Given the description of an element on the screen output the (x, y) to click on. 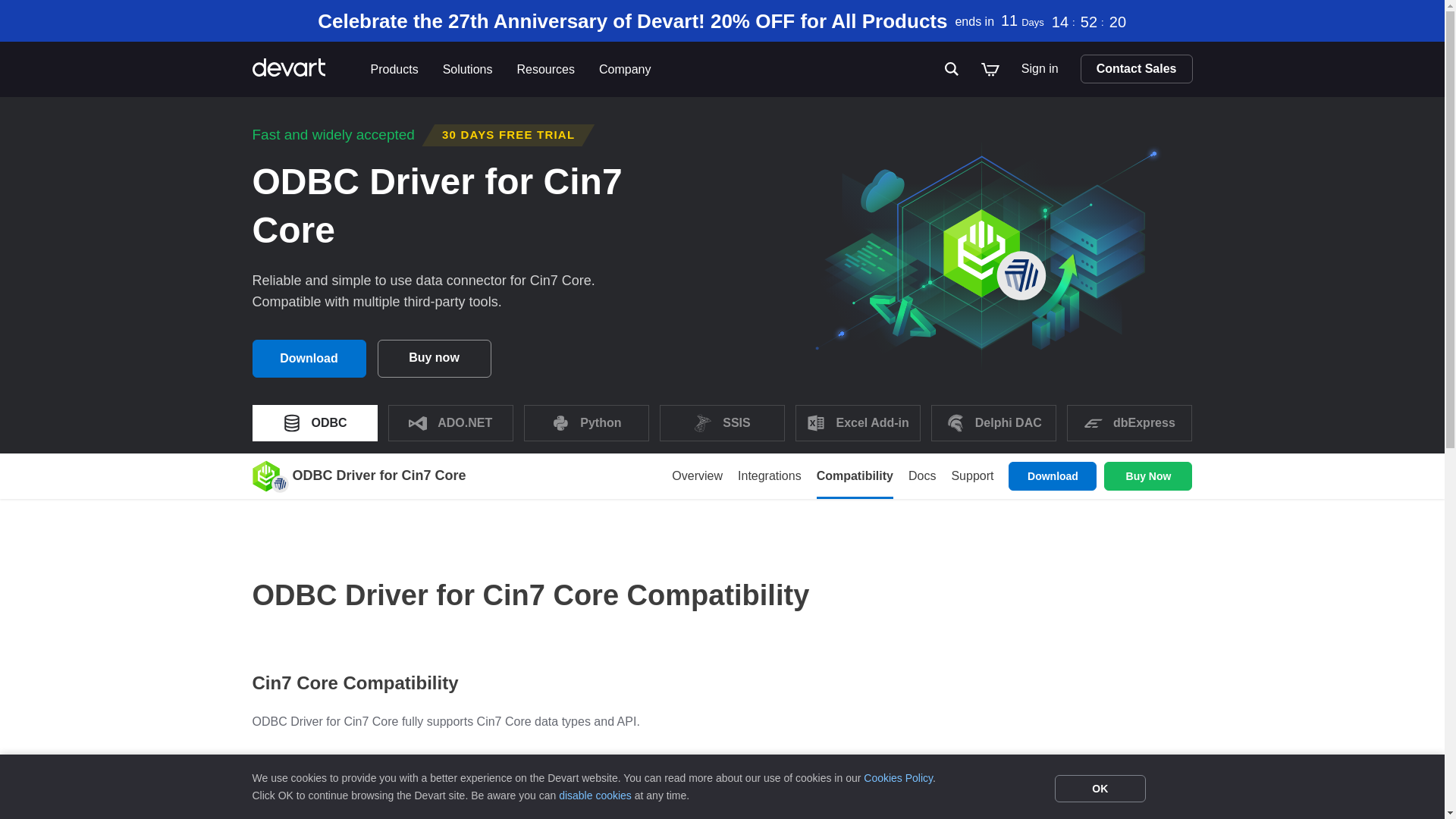
ODBC Driver for Cin7 Core (265, 475)
Sign in (1039, 68)
Devart (304, 68)
Button Search (952, 69)
Products (393, 69)
